Given the description of an element on the screen output the (x, y) to click on. 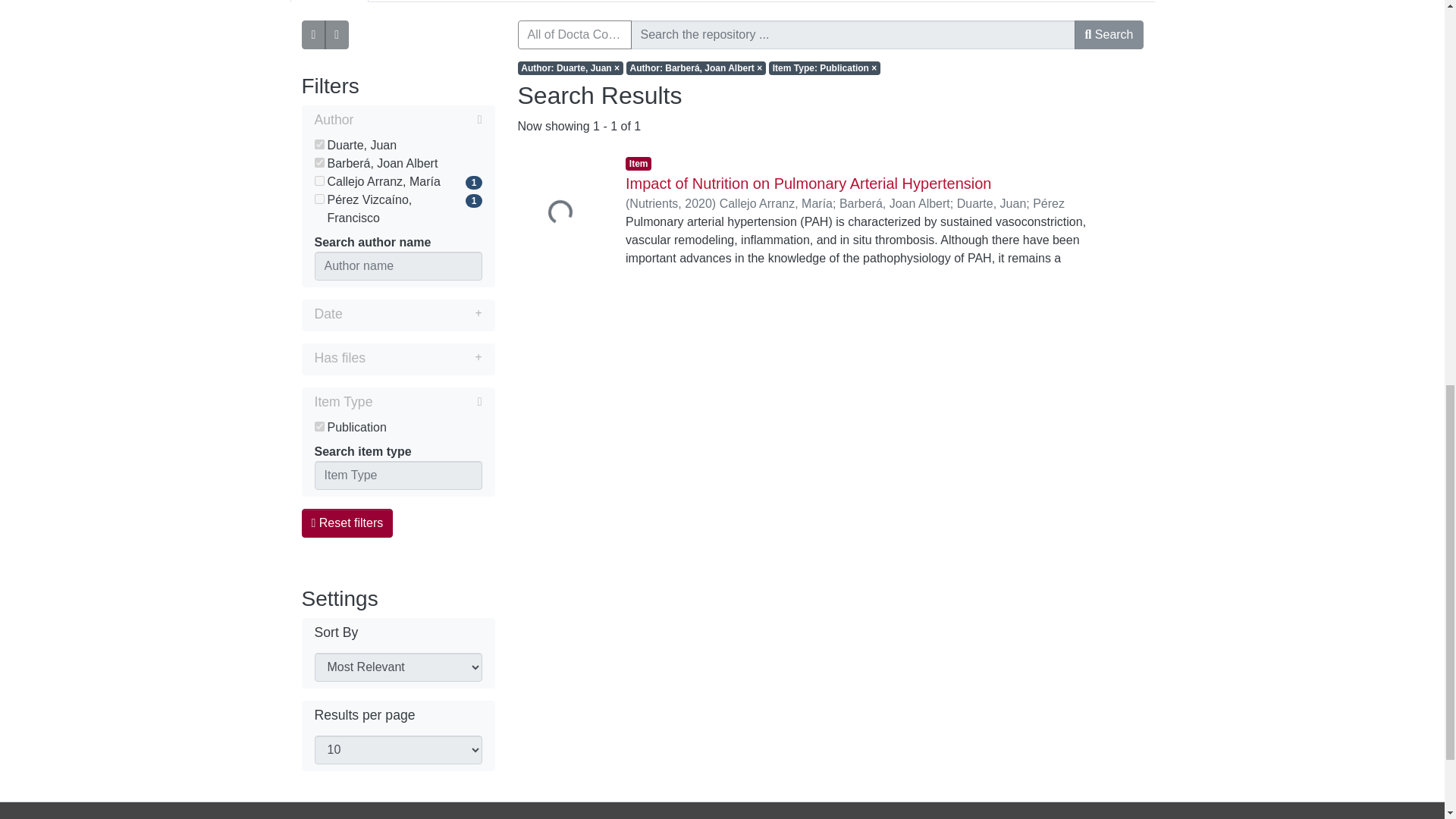
As Advisor (409, 1)
Expand filter (423, 357)
Show as grid (336, 34)
Collapse filter (417, 119)
on (318, 198)
As Editor (488, 1)
Collapse filter (426, 402)
Duarte, Juan (397, 145)
Show as list (313, 34)
Author (397, 121)
Expand filter (411, 313)
As Author (328, 1)
on (318, 426)
on (318, 144)
on (318, 162)
